Given the description of an element on the screen output the (x, y) to click on. 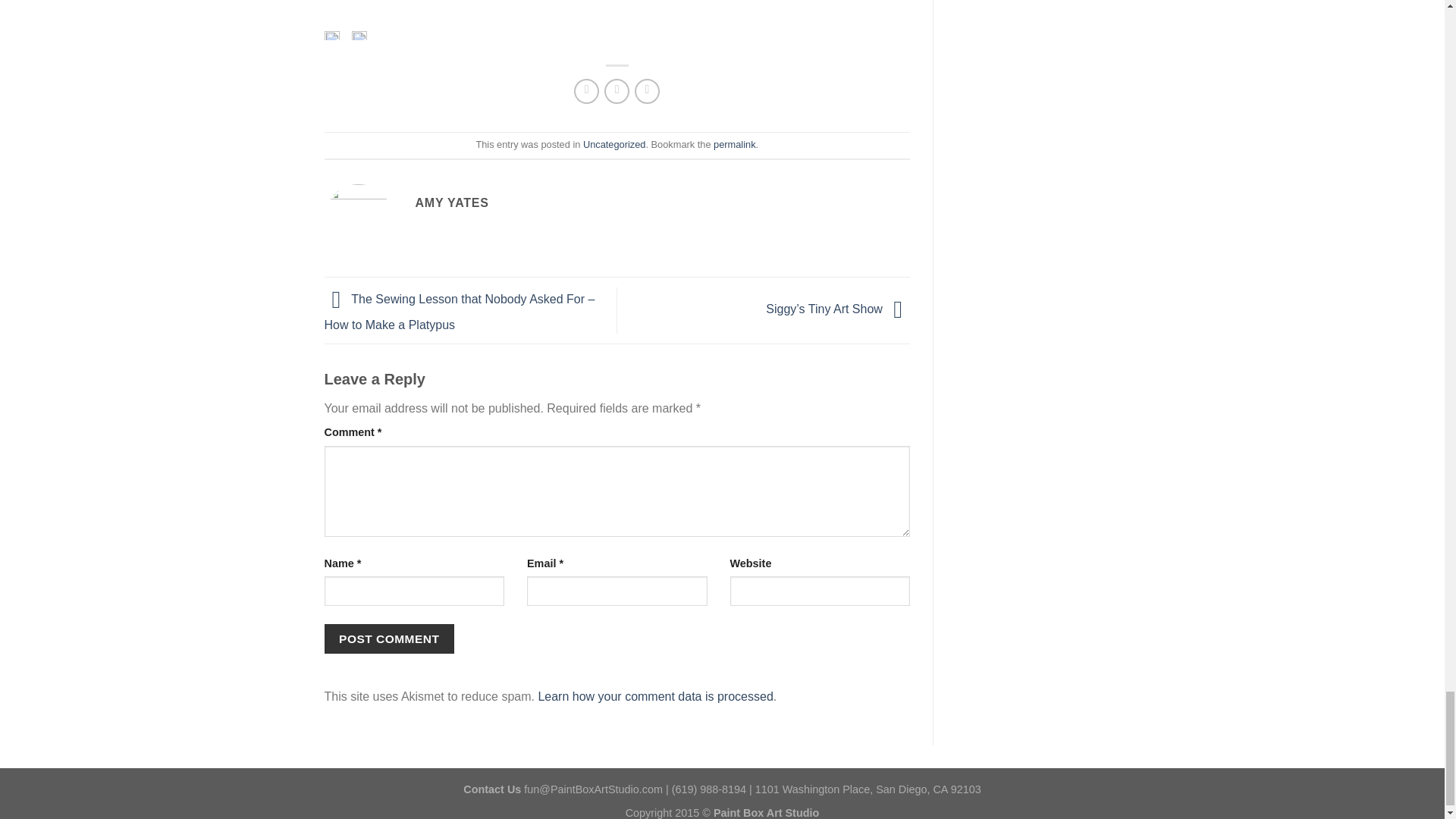
Share on Facebook (585, 91)
Permalink to Tiny Art Show Grab Bag (734, 143)
permalink (734, 143)
Email to a Friend (616, 91)
Post Comment (389, 638)
Contact Us (492, 788)
Pin on Pinterest (646, 91)
Uncategorized (614, 143)
Learn how your comment data is processed (655, 696)
Post Comment (389, 638)
